Given the description of an element on the screen output the (x, y) to click on. 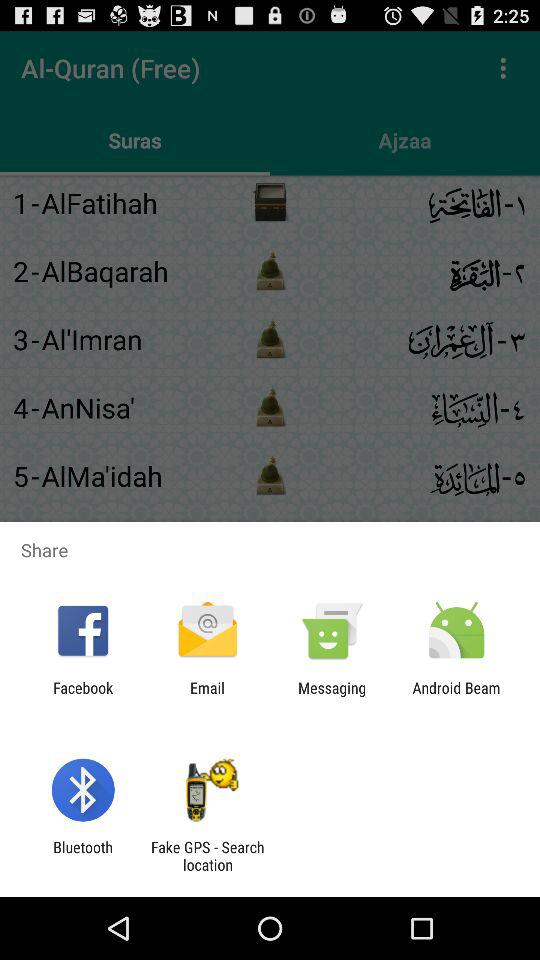
press the item to the left of fake gps search app (82, 856)
